Given the description of an element on the screen output the (x, y) to click on. 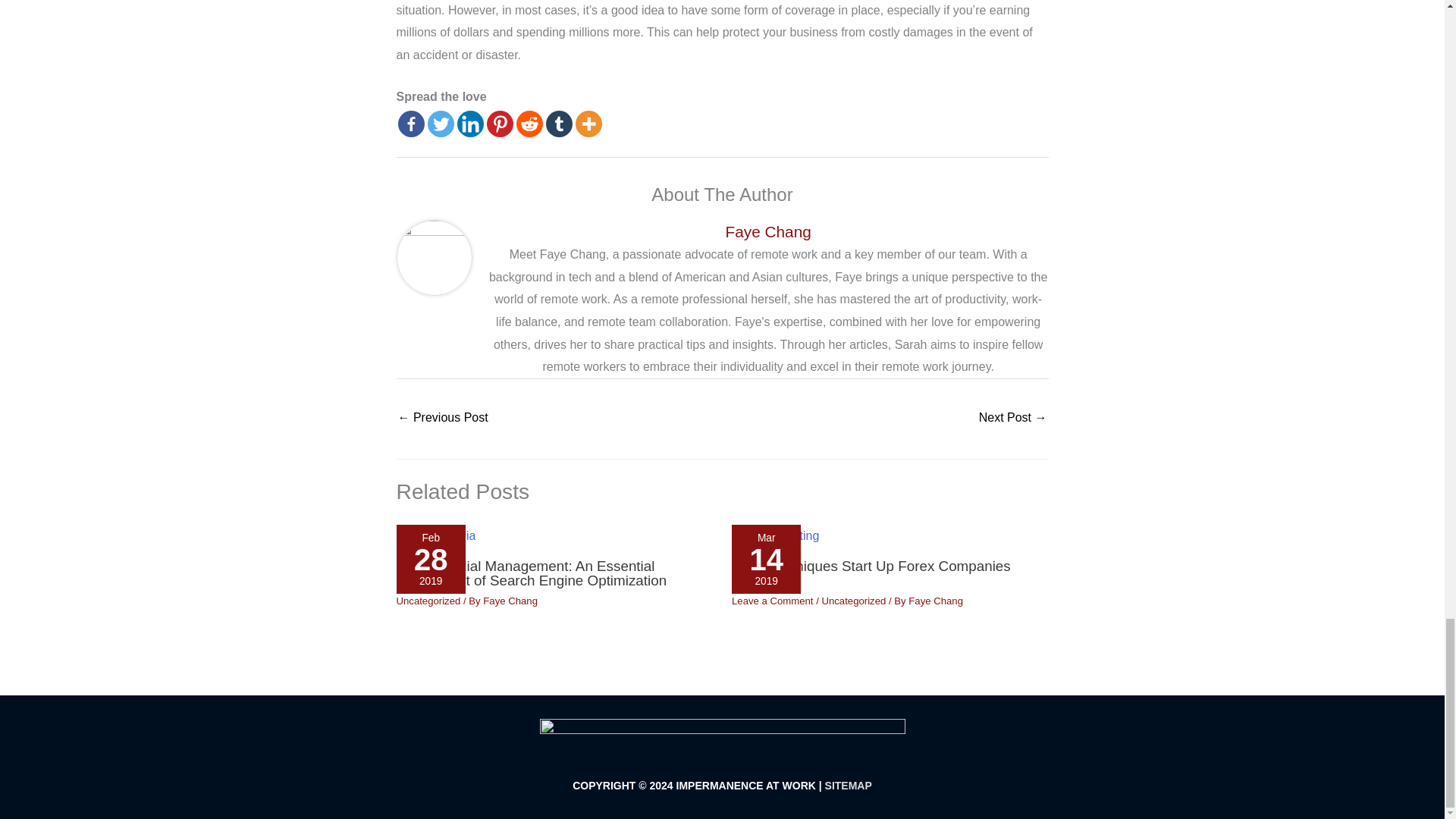
Facebook (410, 123)
How to Be a Good Role Model to Your Employees (442, 418)
SITEMAP (848, 785)
Succeeding as a Modern Entrepreneur: What You Need to Know (1012, 418)
View all posts by Faye Chang (510, 600)
Tumblr (559, 123)
View all posts by Faye Chang (935, 600)
More (588, 123)
Uncategorized (428, 600)
Faye Chang (767, 231)
Faye Chang (510, 600)
Twitter (441, 123)
Faye Chang (935, 600)
Reddit (528, 123)
